Given the description of an element on the screen output the (x, y) to click on. 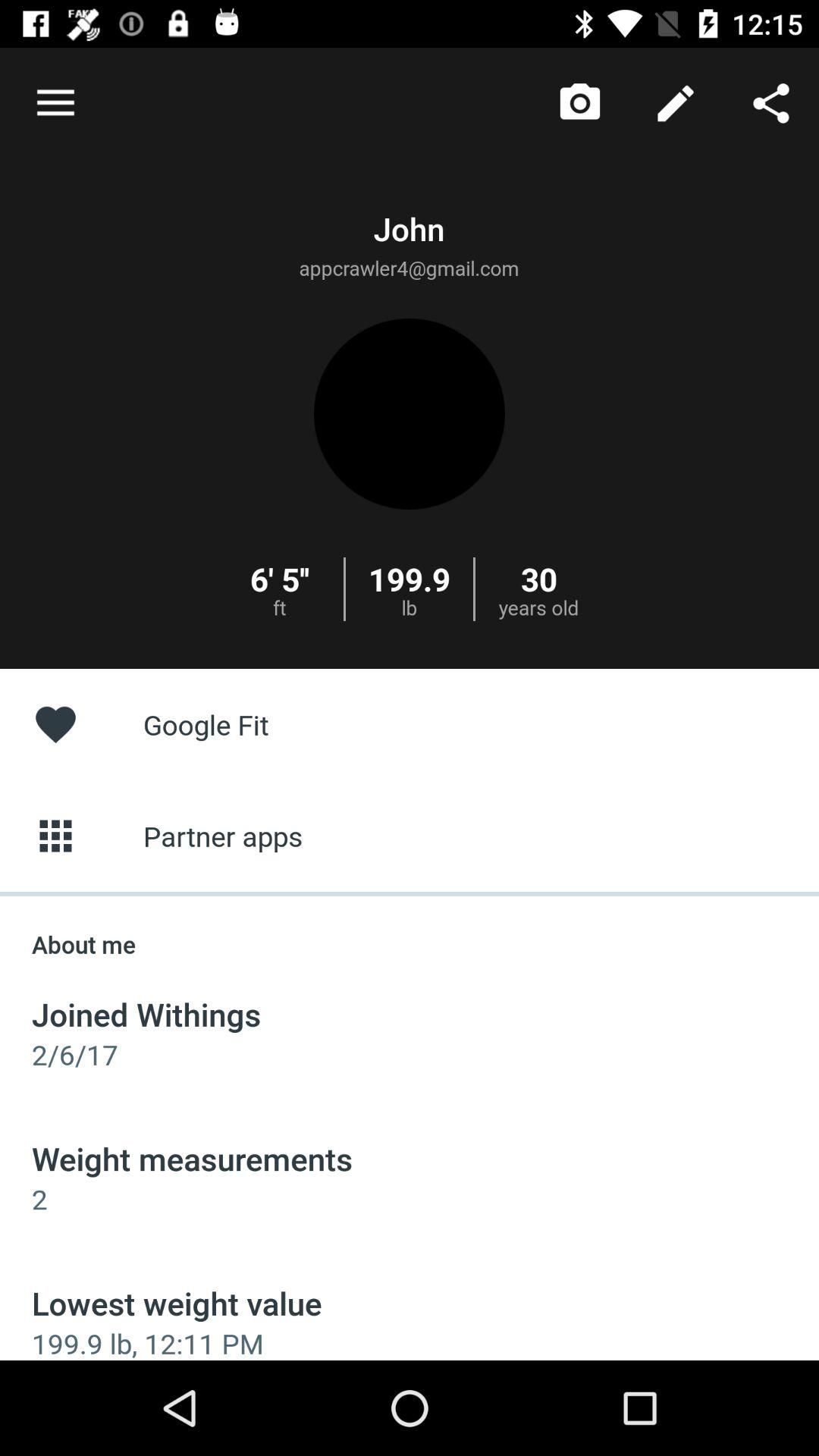
press the item above the google fit (55, 103)
